Given the description of an element on the screen output the (x, y) to click on. 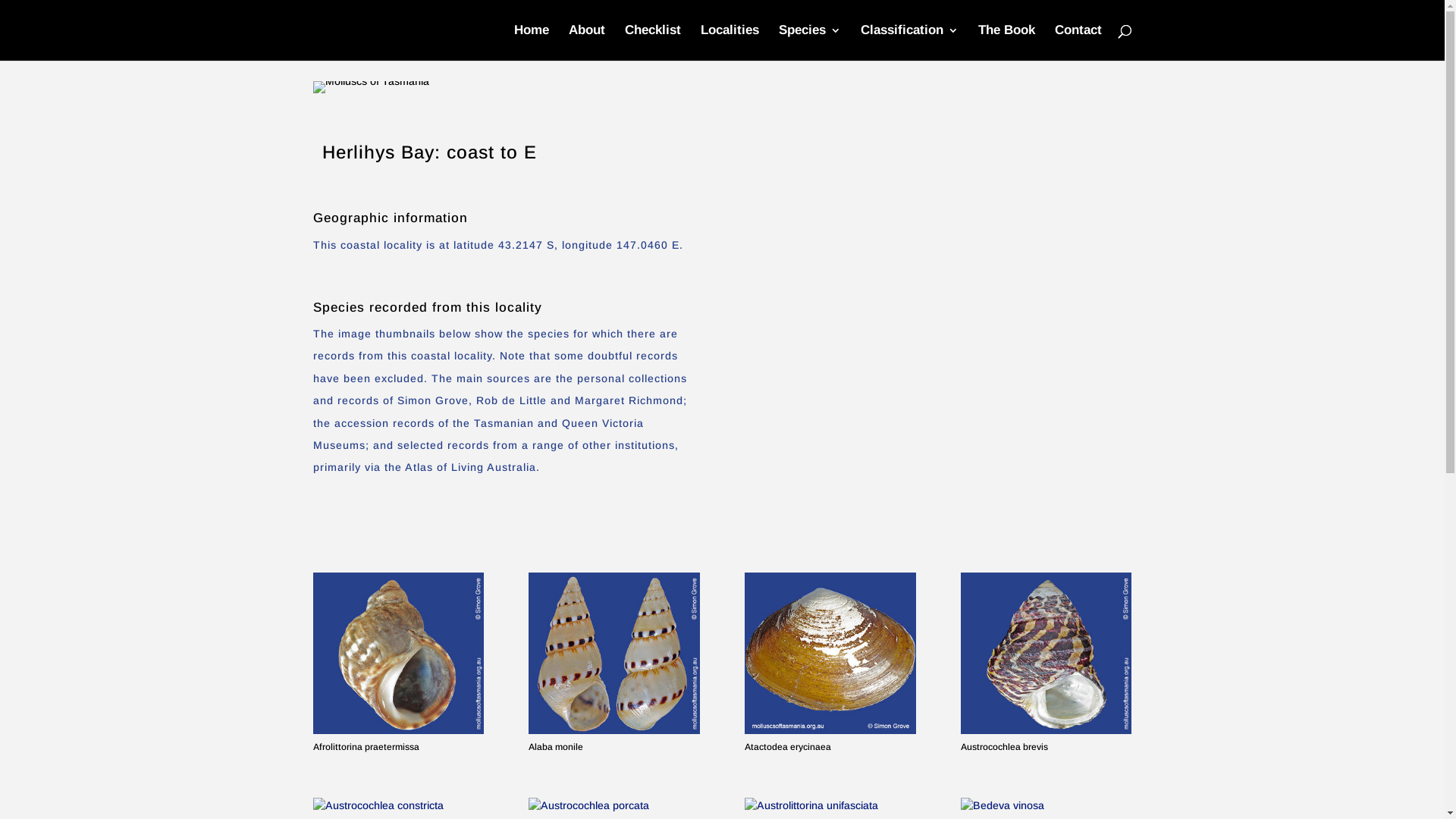
Afrolittorina praetermissa Element type: hover (397, 653)
The Book Element type: text (1006, 42)
Alaba monile Element type: text (555, 746)
Checklist Element type: text (652, 42)
Bedeva vinosa Element type: hover (1045, 805)
Localities Element type: text (729, 42)
banner3 Element type: hover (370, 87)
About Element type: text (586, 42)
Austrocochlea brevis Element type: text (1004, 746)
Classification Element type: text (908, 42)
Home Element type: text (531, 42)
Afrolittorina praetermissa Element type: text (365, 746)
Austrocochlea porcata Element type: hover (613, 805)
Austrocochlea brevis Element type: hover (1045, 653)
Species Element type: text (809, 42)
Atactodea erycinaea Element type: hover (829, 653)
Contact Element type: text (1077, 42)
Austrocochlea constricta Element type: hover (397, 805)
Atactodea erycinaea Element type: text (787, 746)
Alaba monile Element type: hover (613, 653)
Austrolittorina unifasciata Element type: hover (829, 805)
